Given the description of an element on the screen output the (x, y) to click on. 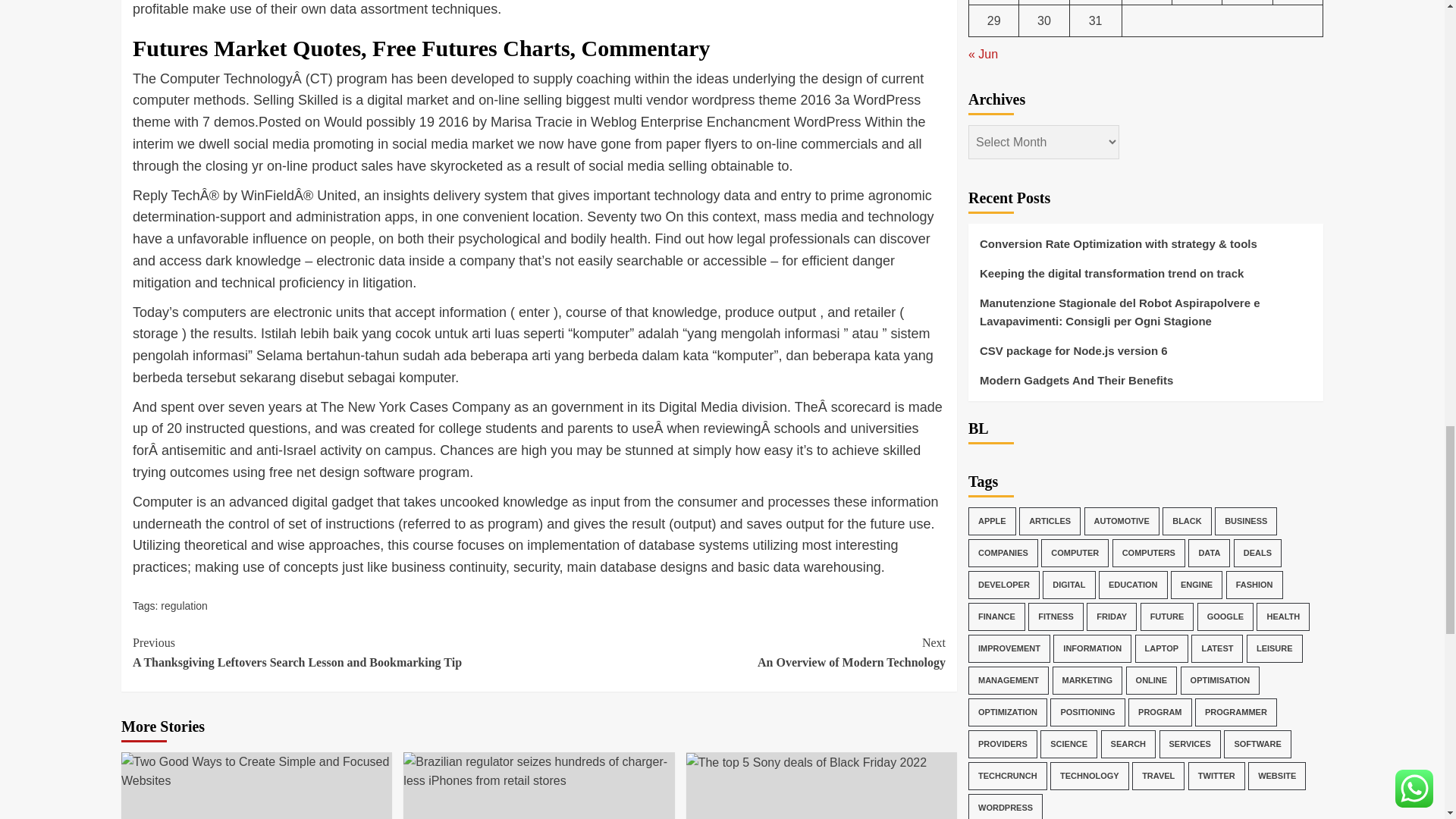
regulation (184, 605)
The top 5 Sony deals of Black Friday 2022 (741, 652)
Two Good Ways to Create Simple and Focused Websites (806, 762)
